Given the description of an element on the screen output the (x, y) to click on. 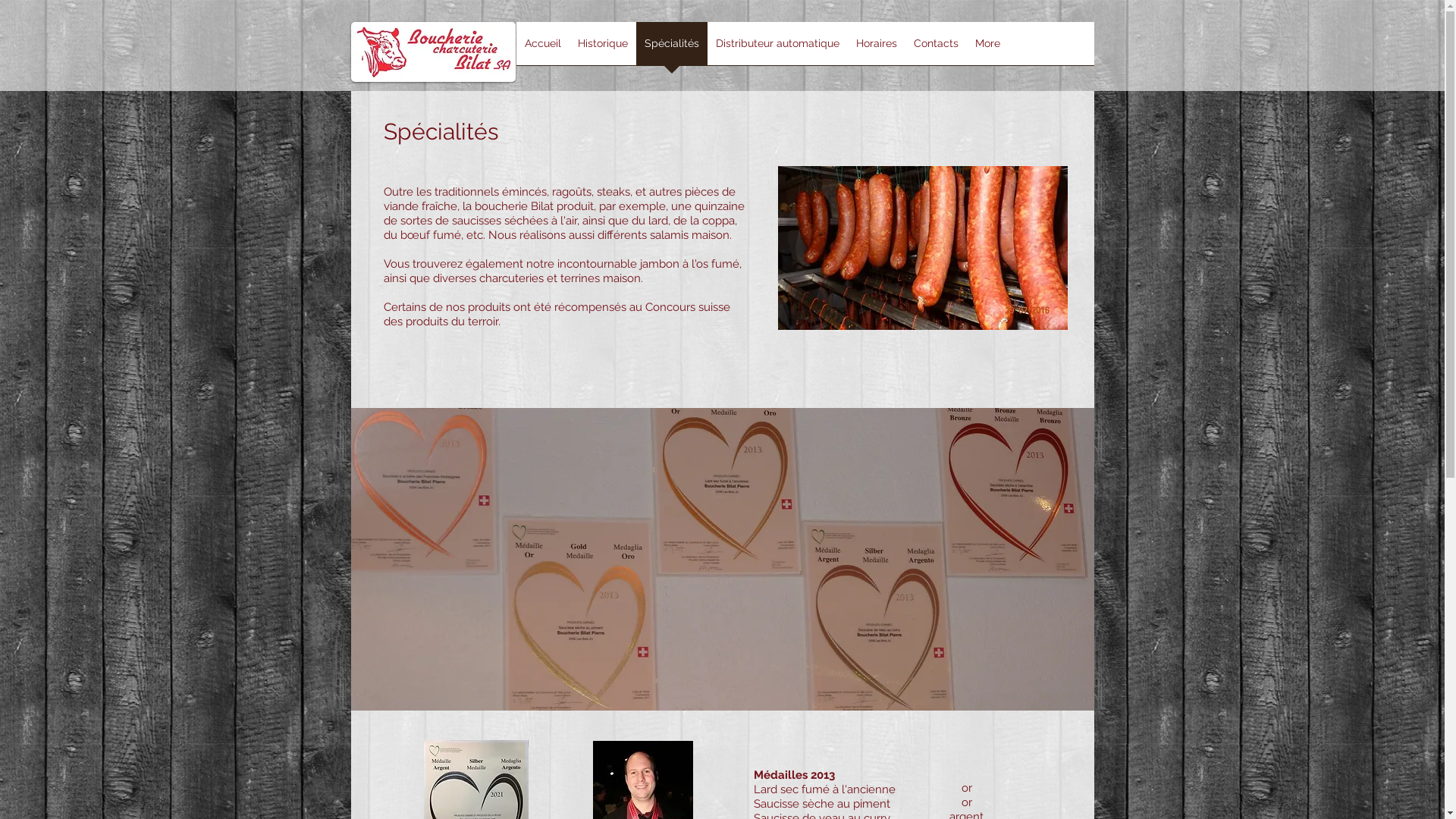
Distributeur automatique Element type: text (776, 48)
Contacts Element type: text (935, 48)
Accueil Element type: text (541, 48)
Historique Element type: text (601, 48)
Horaires Element type: text (876, 48)
